Given the description of an element on the screen output the (x, y) to click on. 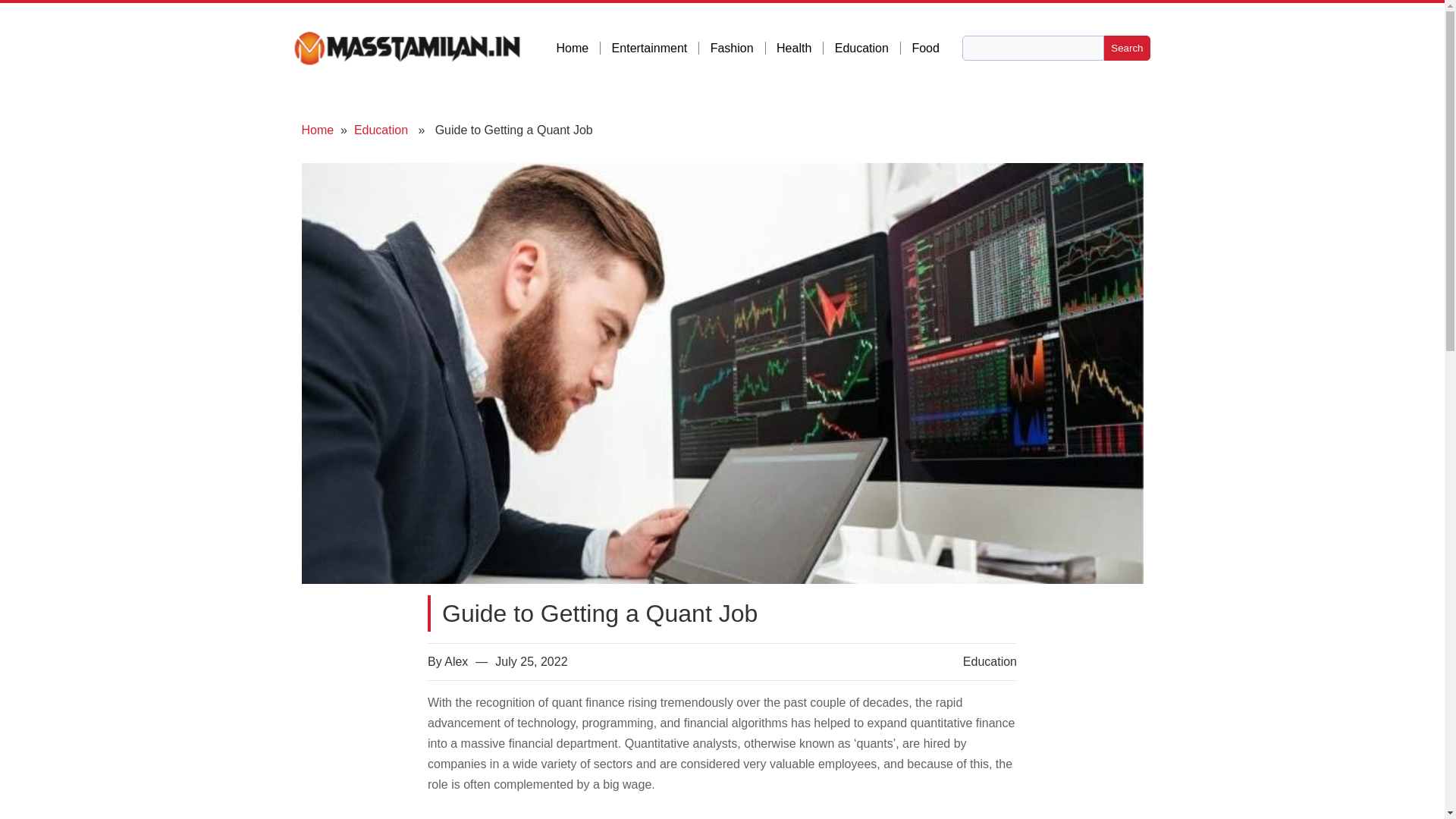
Alex (455, 661)
Posts by Alex (455, 661)
Education (380, 129)
Education (989, 661)
Food (925, 47)
Home (317, 129)
Search (1126, 48)
Home (577, 47)
Education (867, 47)
Health (800, 47)
Fashion (737, 47)
Search (1126, 48)
Entertainment (655, 47)
